Given the description of an element on the screen output the (x, y) to click on. 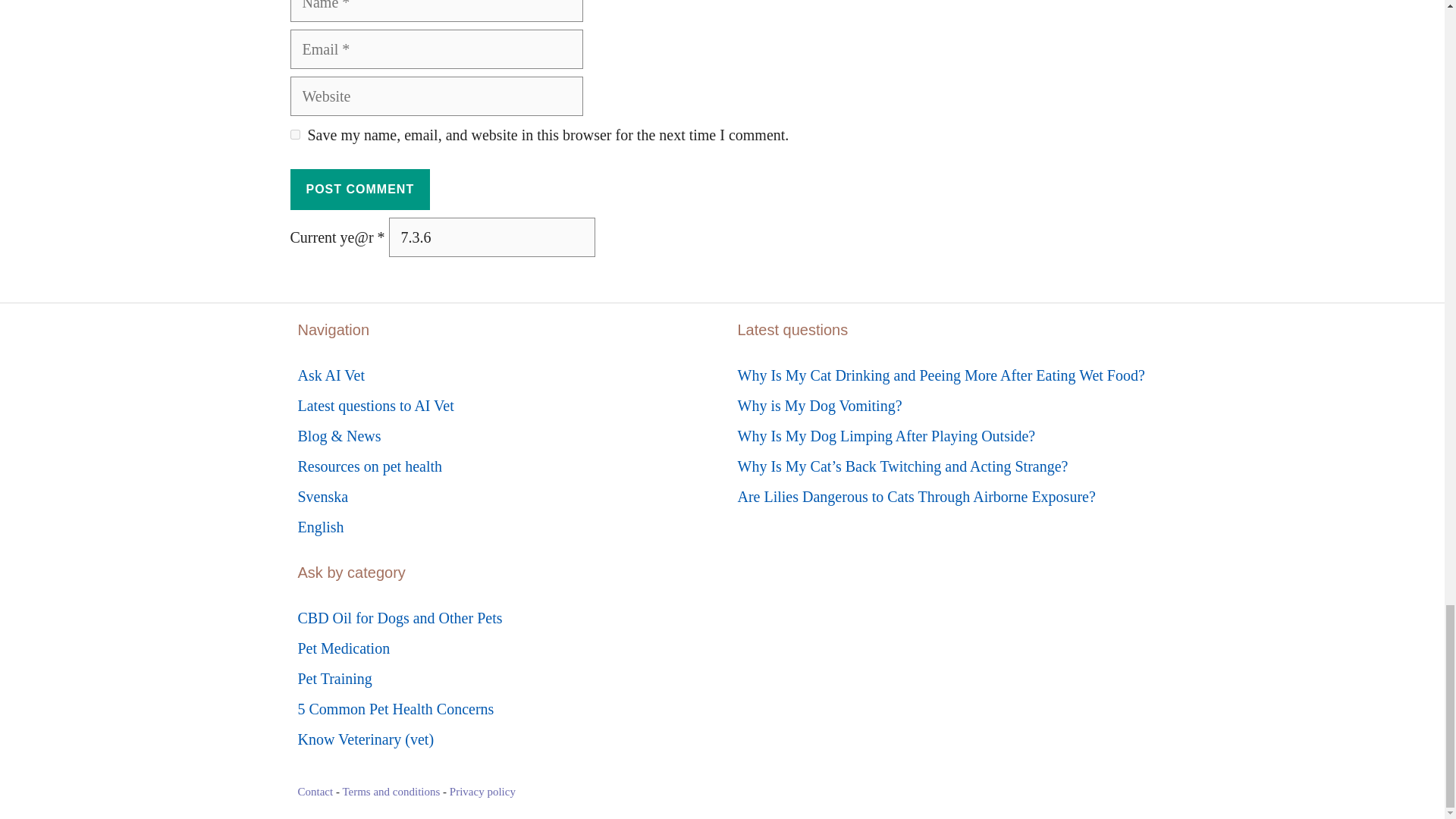
7.3.6 (491, 237)
5 Common Pet Health Concerns (395, 709)
Post Comment (359, 188)
Post Comment (359, 188)
English (320, 526)
Terms and conditions (390, 791)
Pet Medication (343, 647)
CBD Oil for Dogs and Other Pets (399, 617)
Svenska (322, 496)
Why is My Dog Vomiting? (818, 405)
Are Lilies Dangerous to Cats Through Airborne Exposure? (915, 496)
yes (294, 134)
Privacy policy (482, 791)
Ask AI Vet (331, 375)
Latest questions to AI Vet (374, 405)
